Given the description of an element on the screen output the (x, y) to click on. 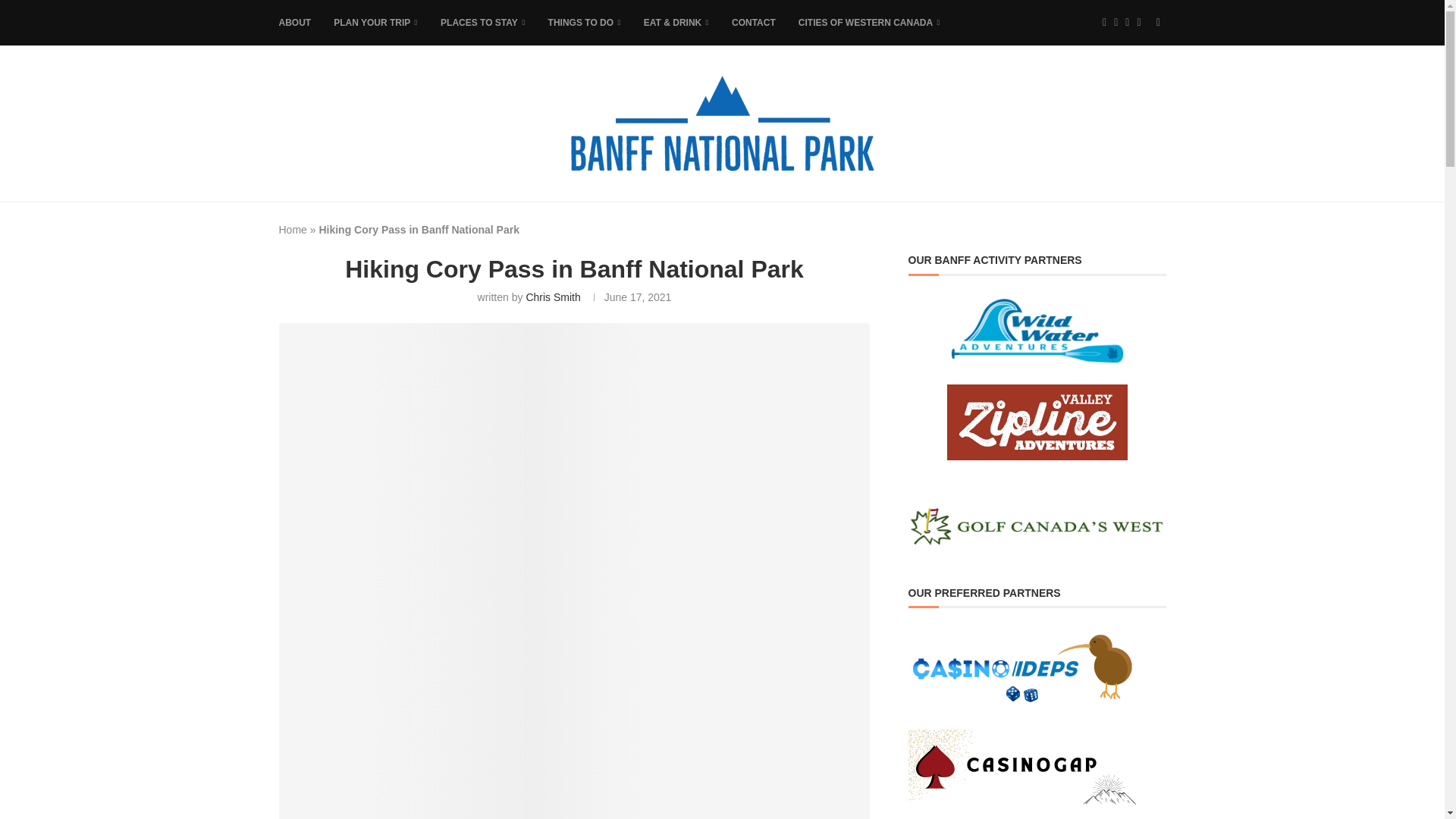
PLAN YOUR TRIP (375, 22)
ABOUT (295, 22)
PLACES TO STAY (483, 22)
